Given the description of an element on the screen output the (x, y) to click on. 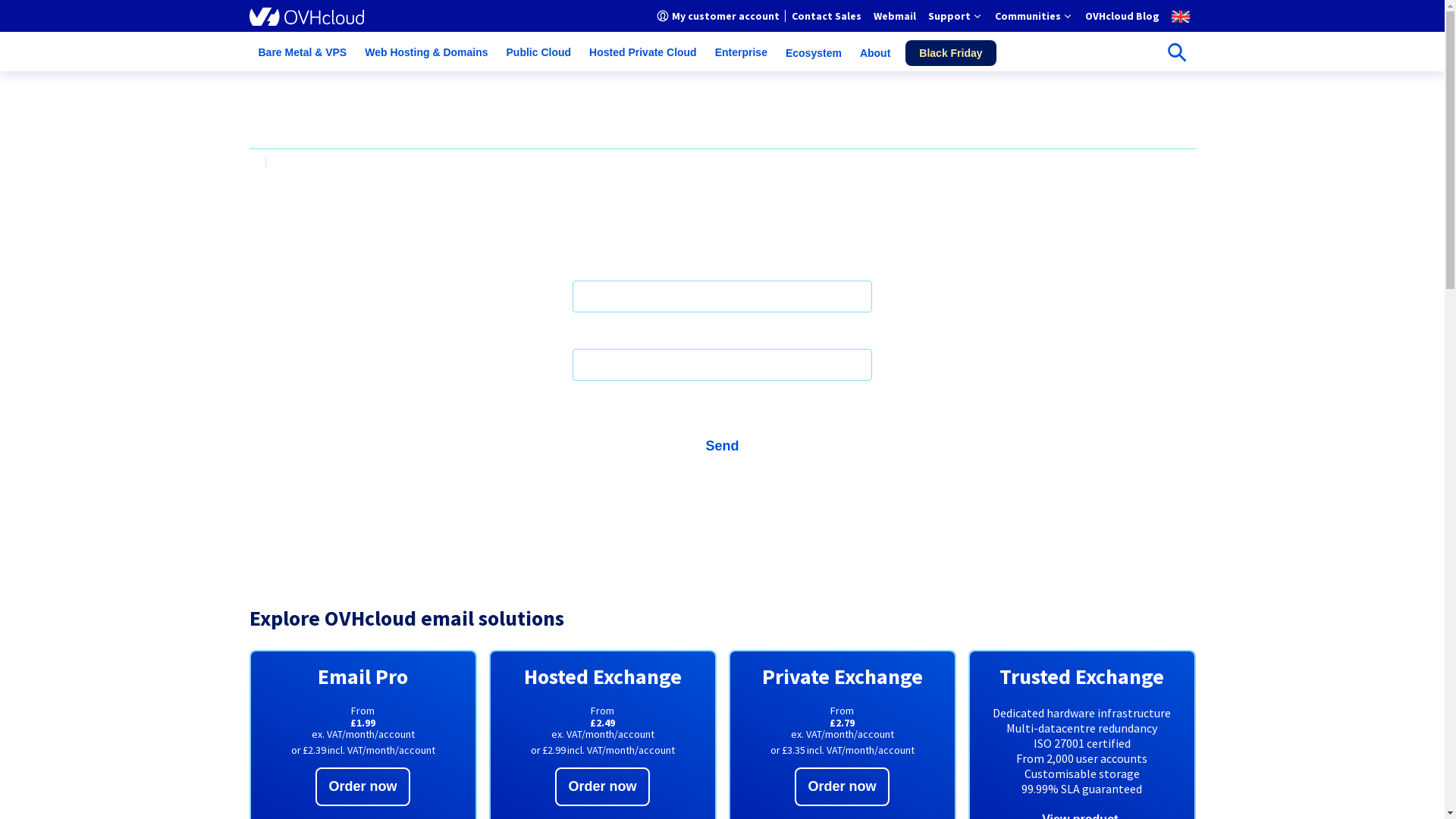
Support Element type: text (955, 15)
Web Hosting & Domains Element type: text (425, 52)
Webmail Element type: text (894, 15)
Black Friday Element type: text (950, 52)
Order now Element type: text (602, 786)
About Element type: text (874, 52)
Open search bar Element type: text (1176, 52)
Contact Sales Element type: text (826, 15)
OVHcloud Blog Element type: text (1121, 15)
Bare Metal & VPS Element type: text (301, 52)
Ecosystem Element type: text (813, 52)
Order now Element type: text (841, 786)
Order now Element type: text (362, 786)
Send Element type: text (721, 445)
Public Cloud Element type: text (538, 52)
My customer account Element type: text (717, 15)
Hosted Private Cloud Element type: text (642, 52)
Communities Element type: text (1033, 15)
Enterprise Element type: text (741, 52)
